Given the description of an element on the screen output the (x, y) to click on. 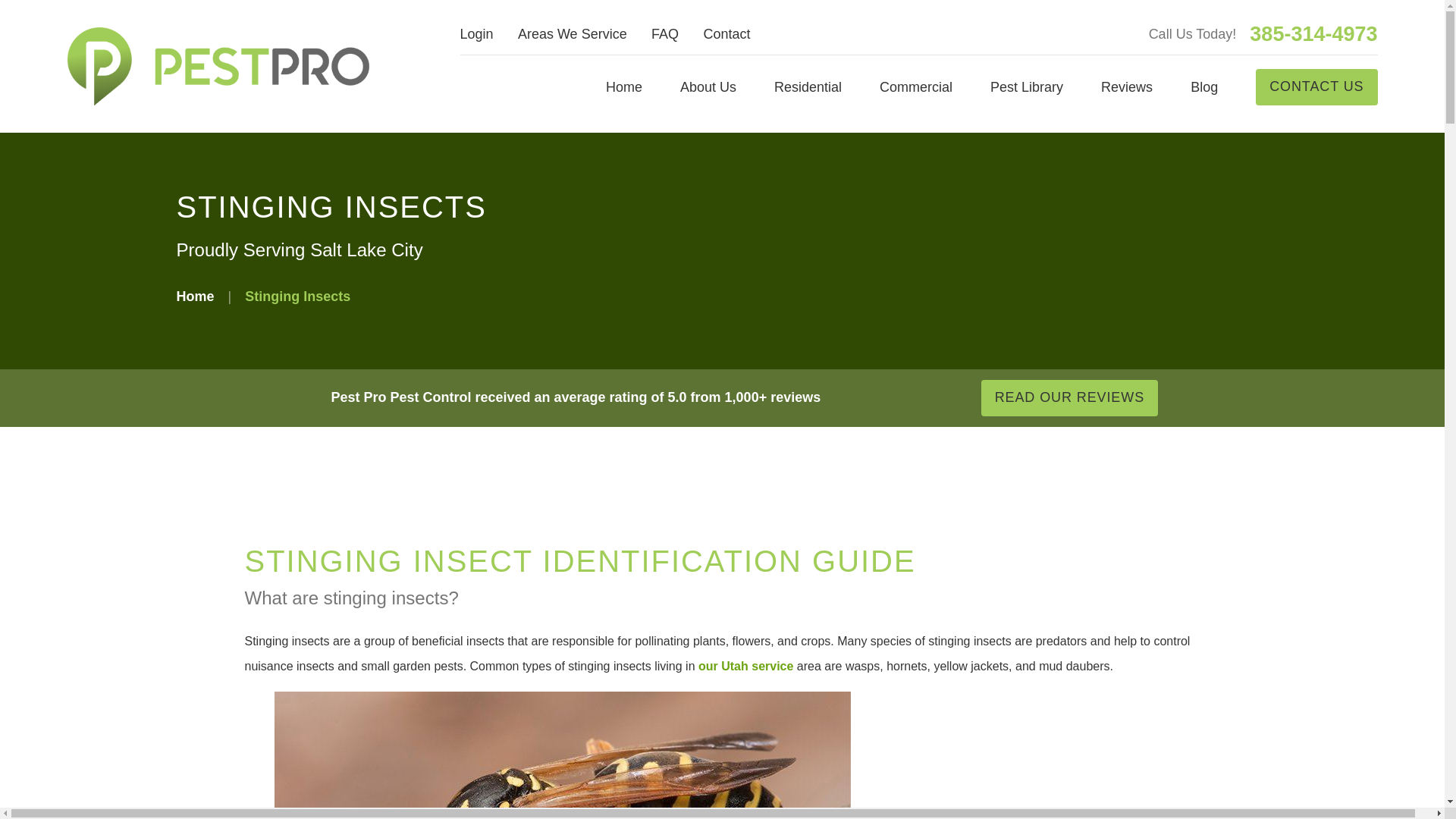
Residential (807, 86)
Home (623, 86)
Star Rating (887, 397)
385-314-4973 (1313, 34)
Go Home (195, 296)
Contact (726, 33)
Home (217, 65)
Login (476, 33)
FAQ (664, 33)
Areas We Service (572, 33)
